Given the description of an element on the screen output the (x, y) to click on. 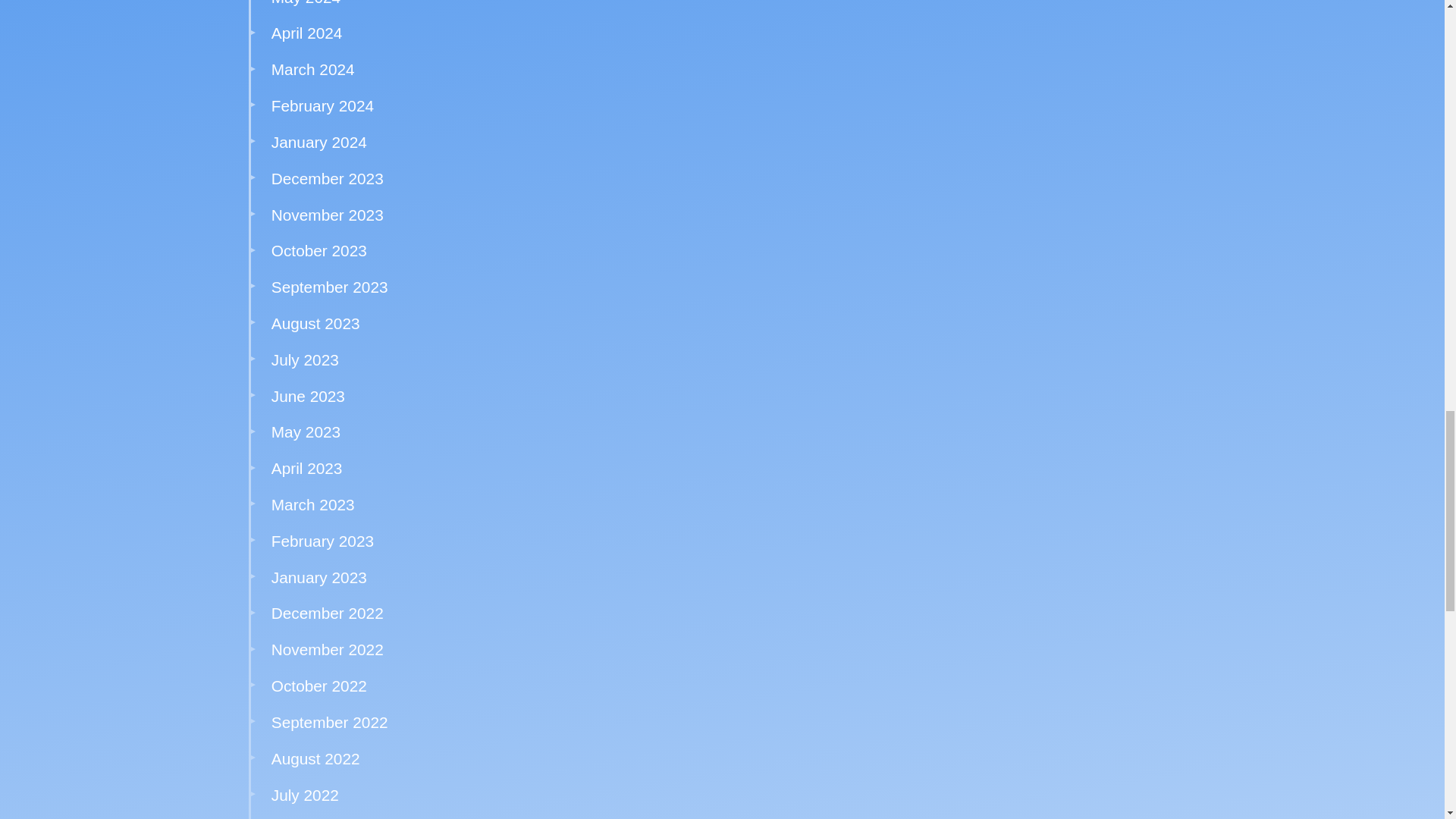
December 2023 (327, 178)
July 2022 (304, 794)
October 2022 (318, 685)
January 2024 (318, 141)
March 2023 (312, 504)
December 2022 (327, 612)
August 2022 (314, 758)
May 2024 (305, 2)
May 2023 (305, 431)
April 2024 (306, 32)
September 2022 (329, 722)
February 2024 (322, 105)
June 2023 (307, 395)
February 2023 (322, 540)
November 2022 (327, 649)
